Given the description of an element on the screen output the (x, y) to click on. 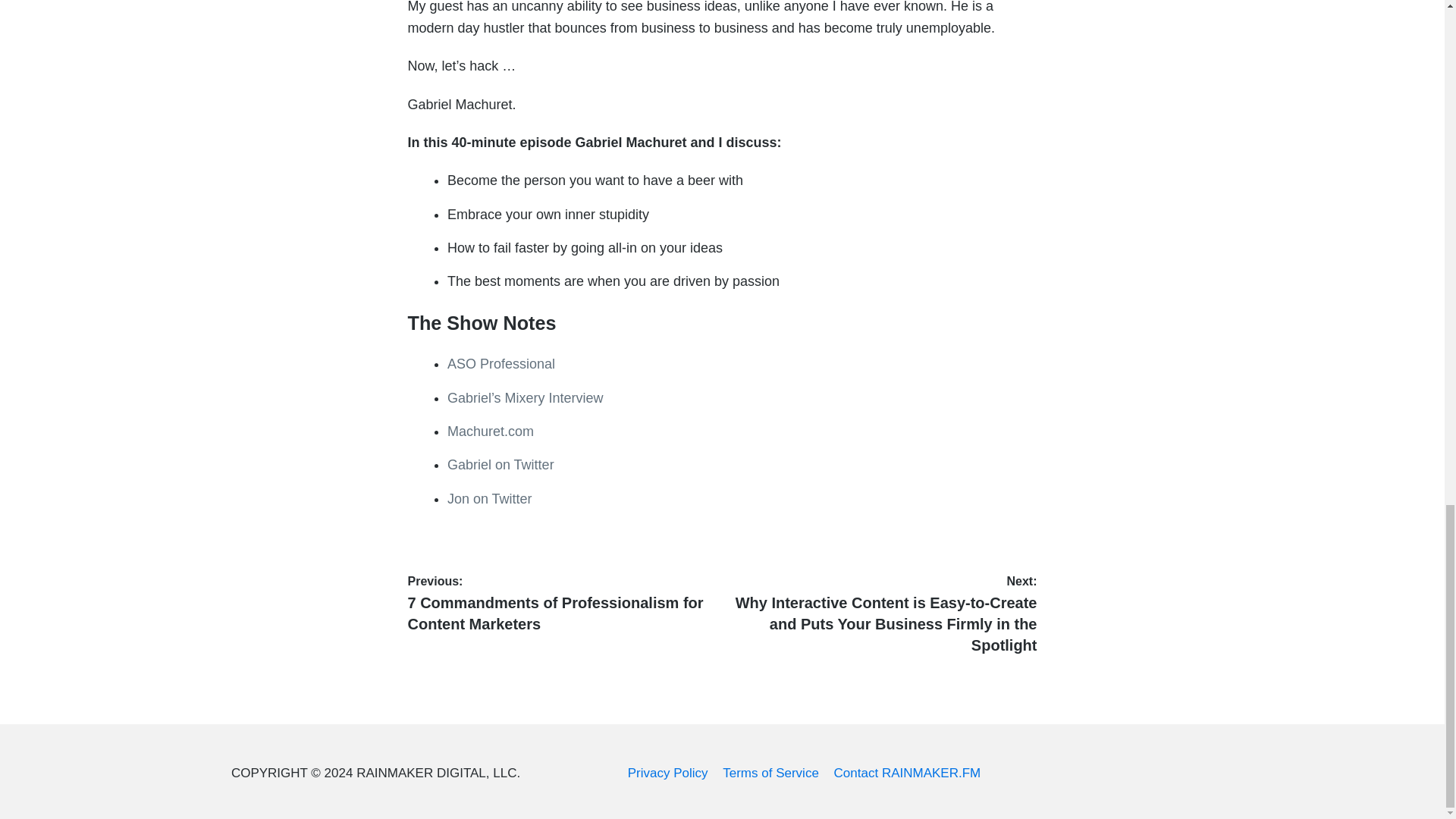
Contact RAINMAKER.FM (907, 772)
Privacy Policy (667, 772)
ASO Professional (500, 363)
Jon on Twitter (489, 498)
Machuret.com (490, 431)
Gabriel on Twitter (500, 464)
Terms of Service (770, 772)
